Given the description of an element on the screen output the (x, y) to click on. 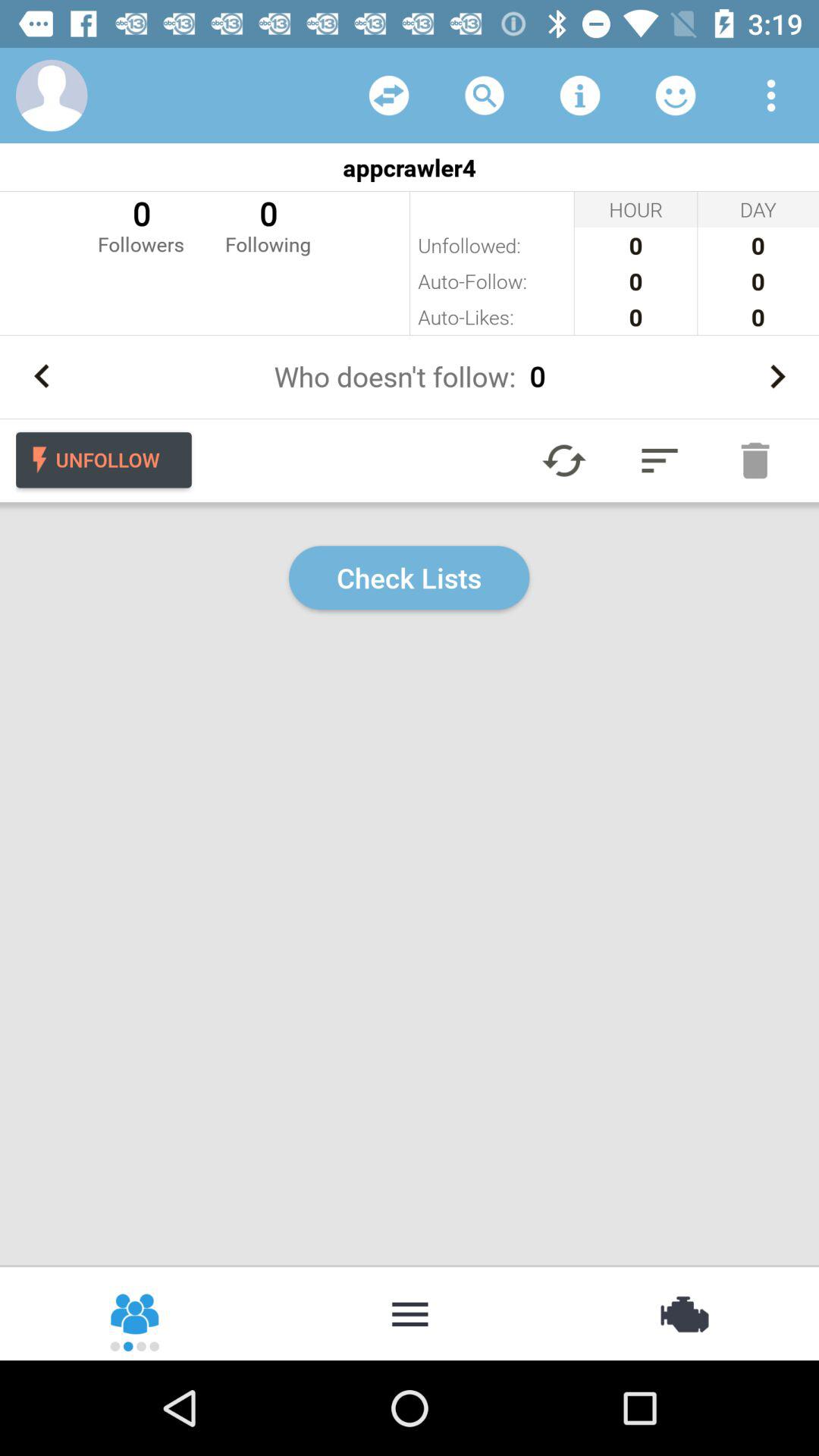
search button (484, 95)
